Given the description of an element on the screen output the (x, y) to click on. 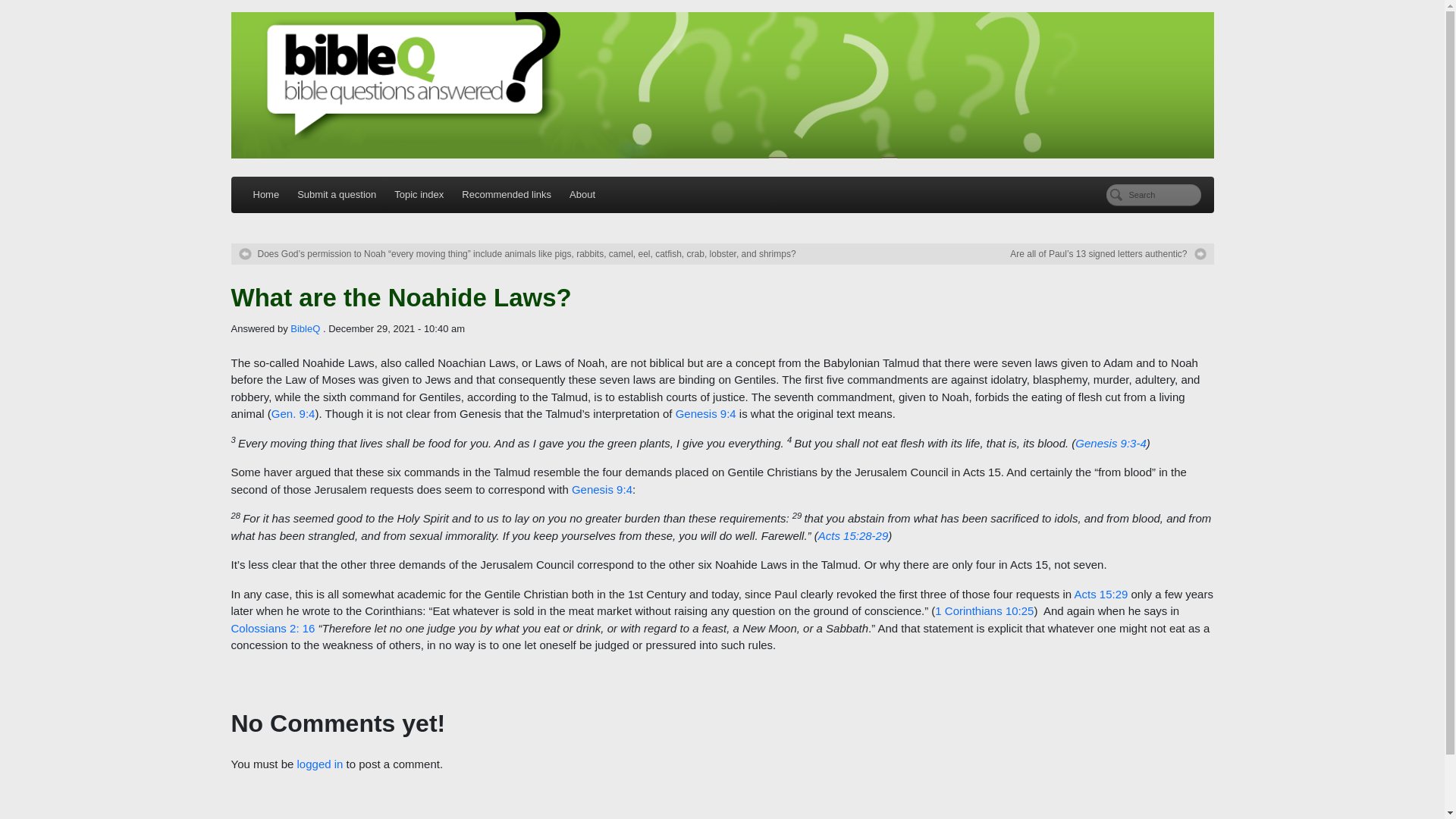
Search (1152, 195)
About (582, 194)
Genesis 9:3-4 (1110, 442)
View all posts by BibleQ (304, 328)
Acts 15:29 (1100, 594)
Home (266, 194)
Acts 15:28-29 (853, 535)
Submit a question (336, 194)
Gen. 9:4 (292, 413)
Topic index (418, 194)
Submit a question (336, 194)
Home (266, 194)
Colossians 2: 16 (272, 627)
Genesis 9:4 (705, 413)
BibleQ (304, 328)
